Given the description of an element on the screen output the (x, y) to click on. 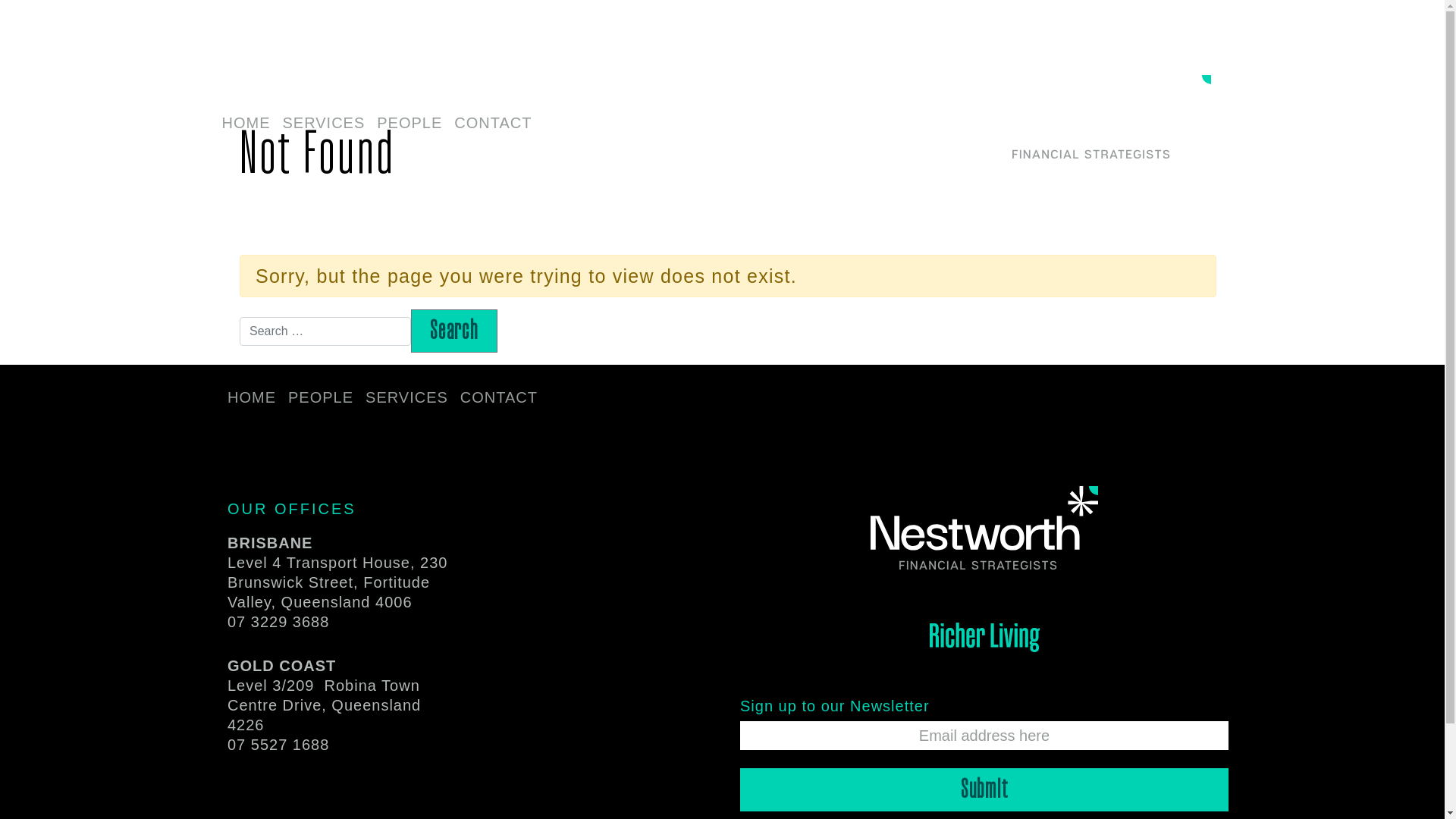
PEOPLE Element type: text (320, 398)
HOME Element type: text (251, 398)
SERVICES Element type: text (406, 398)
SERVICES Element type: text (323, 124)
Search Element type: text (454, 330)
Submit Element type: text (984, 789)
PEOPLE Element type: text (409, 124)
CONTACT Element type: text (492, 124)
HOME Element type: text (245, 124)
CONTACT Element type: text (498, 398)
